Given the description of an element on the screen output the (x, y) to click on. 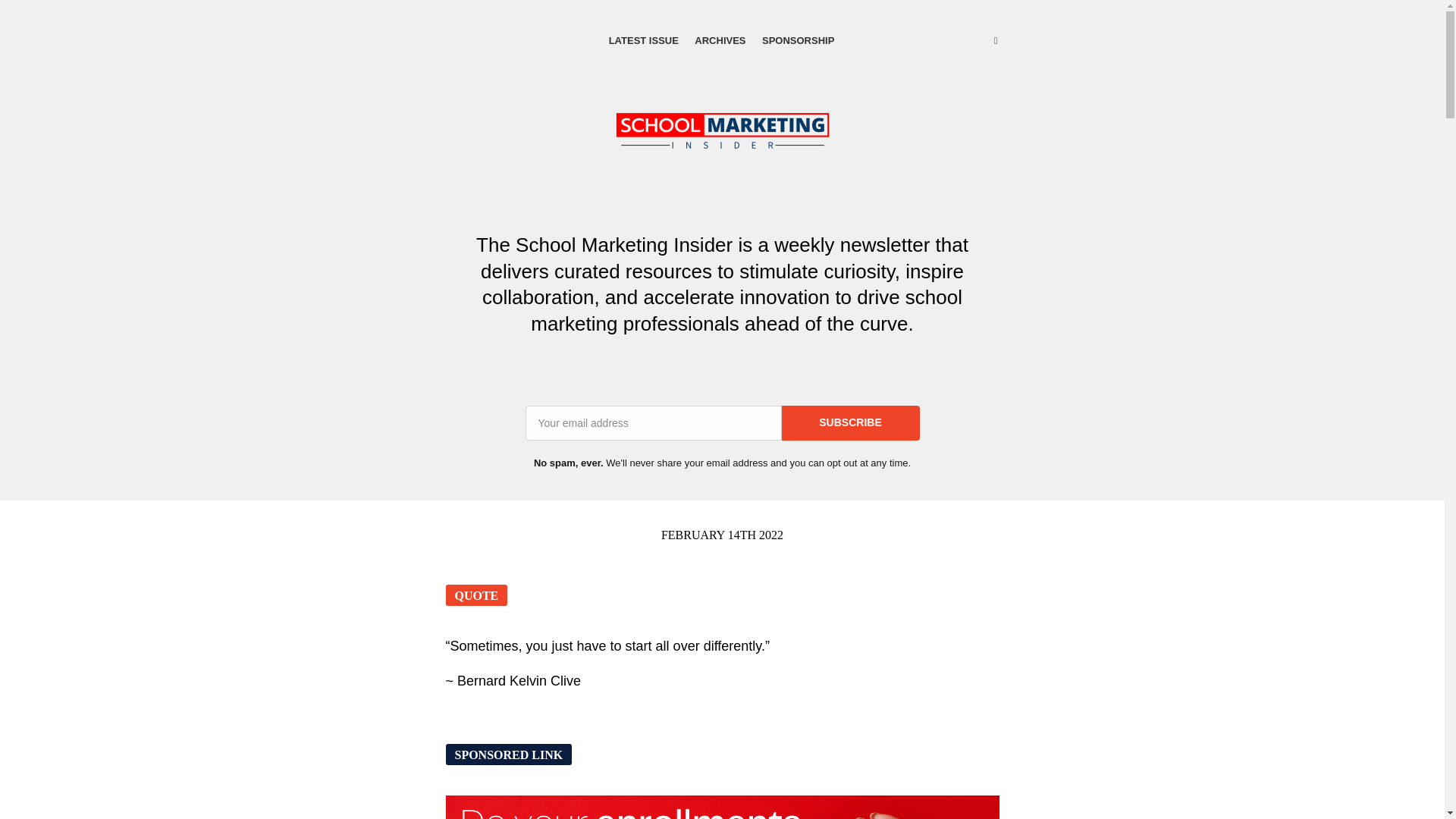
LATEST ISSUE (643, 27)
ARCHIVES (719, 27)
SUBSCRIBE (849, 422)
FEBRUARY 14TH 2022 (722, 534)
SPONSORSHIP (797, 27)
